Given the description of an element on the screen output the (x, y) to click on. 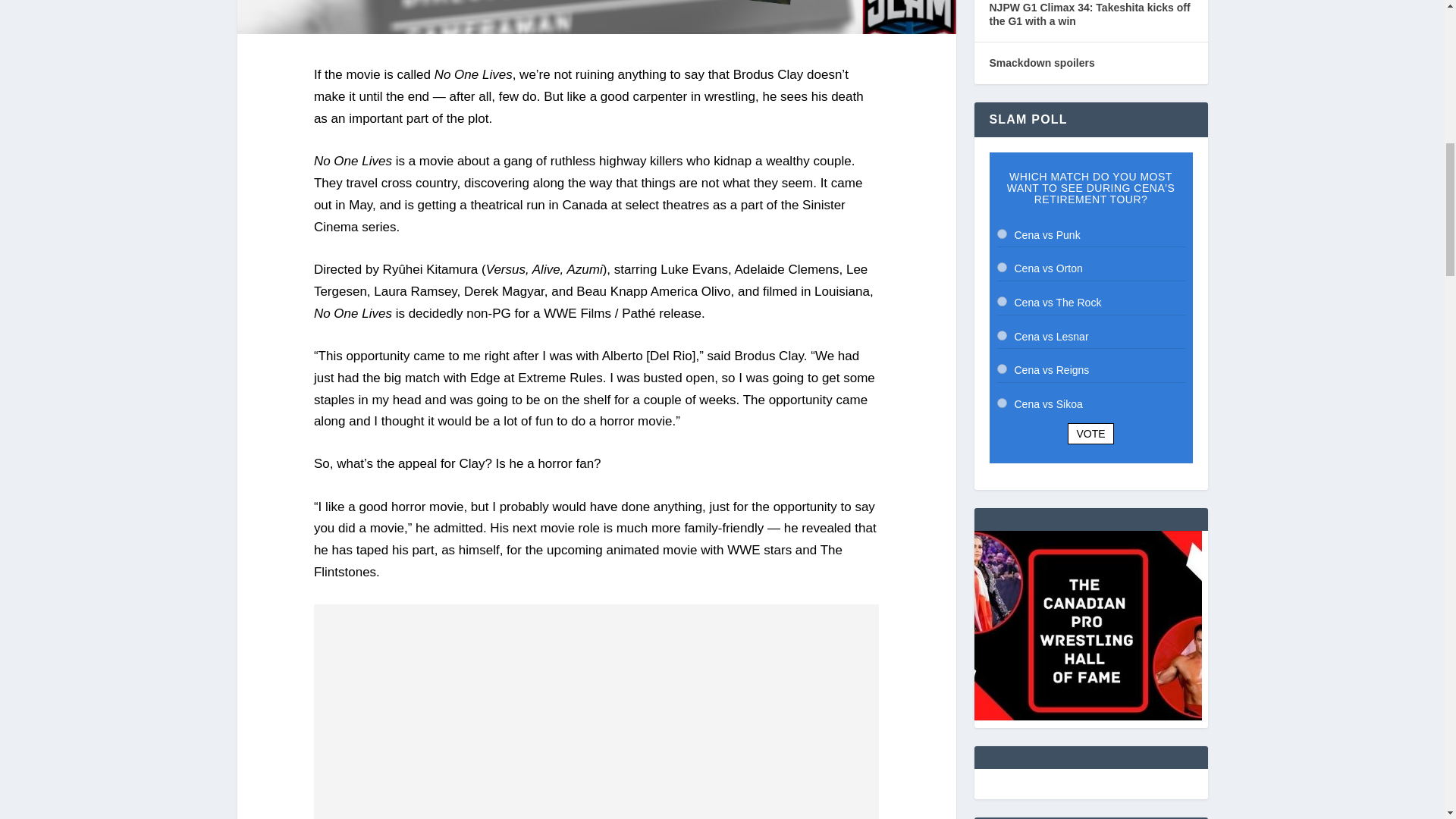
6499 (1000, 301)
6501 (1000, 368)
6500 (1000, 335)
6497 (1000, 234)
6498 (1000, 266)
6502 (1000, 402)
